Given the description of an element on the screen output the (x, y) to click on. 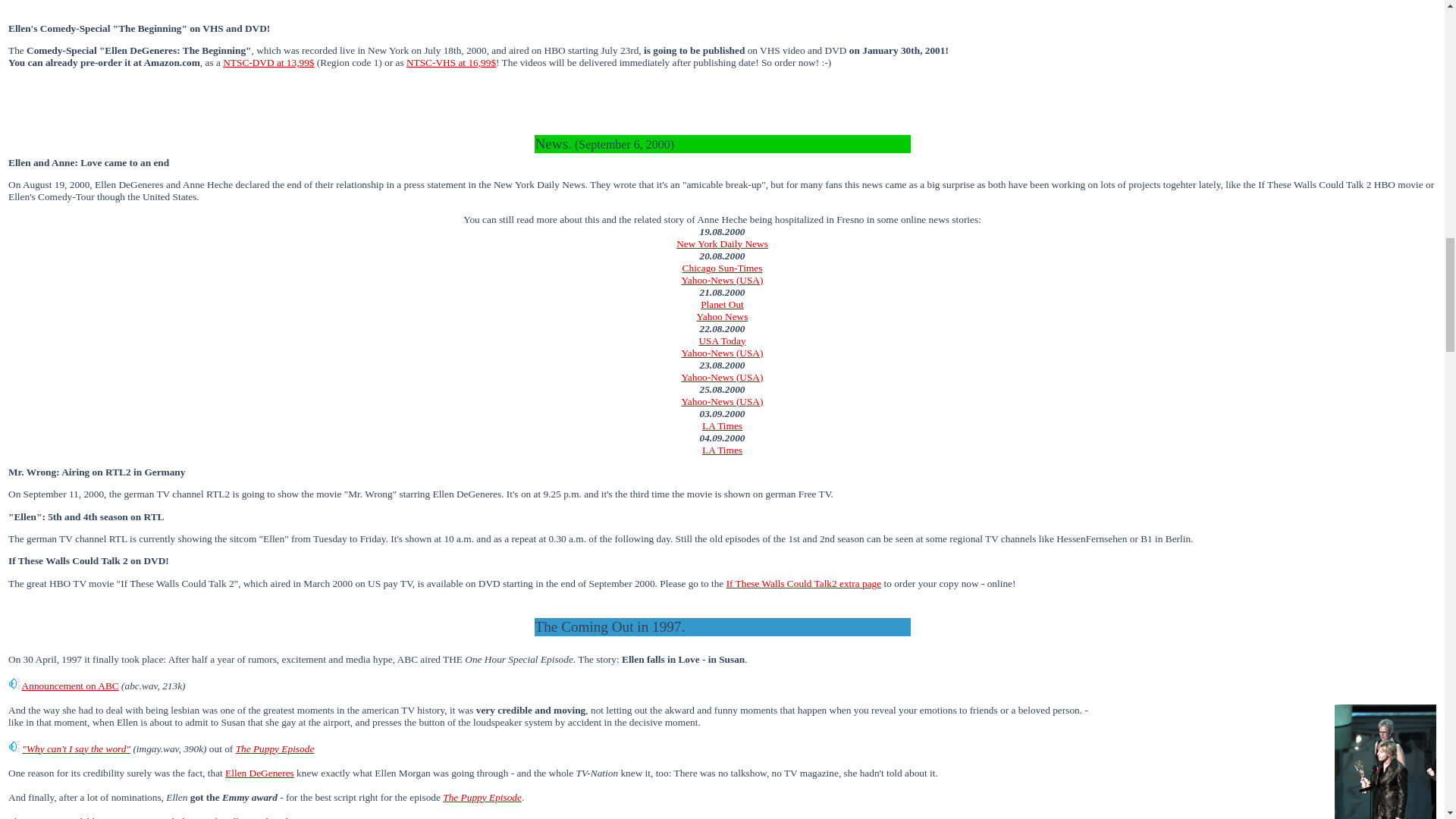
New York Daily News (722, 243)
Chicago Sun-Times (722, 267)
